Given the description of an element on the screen output the (x, y) to click on. 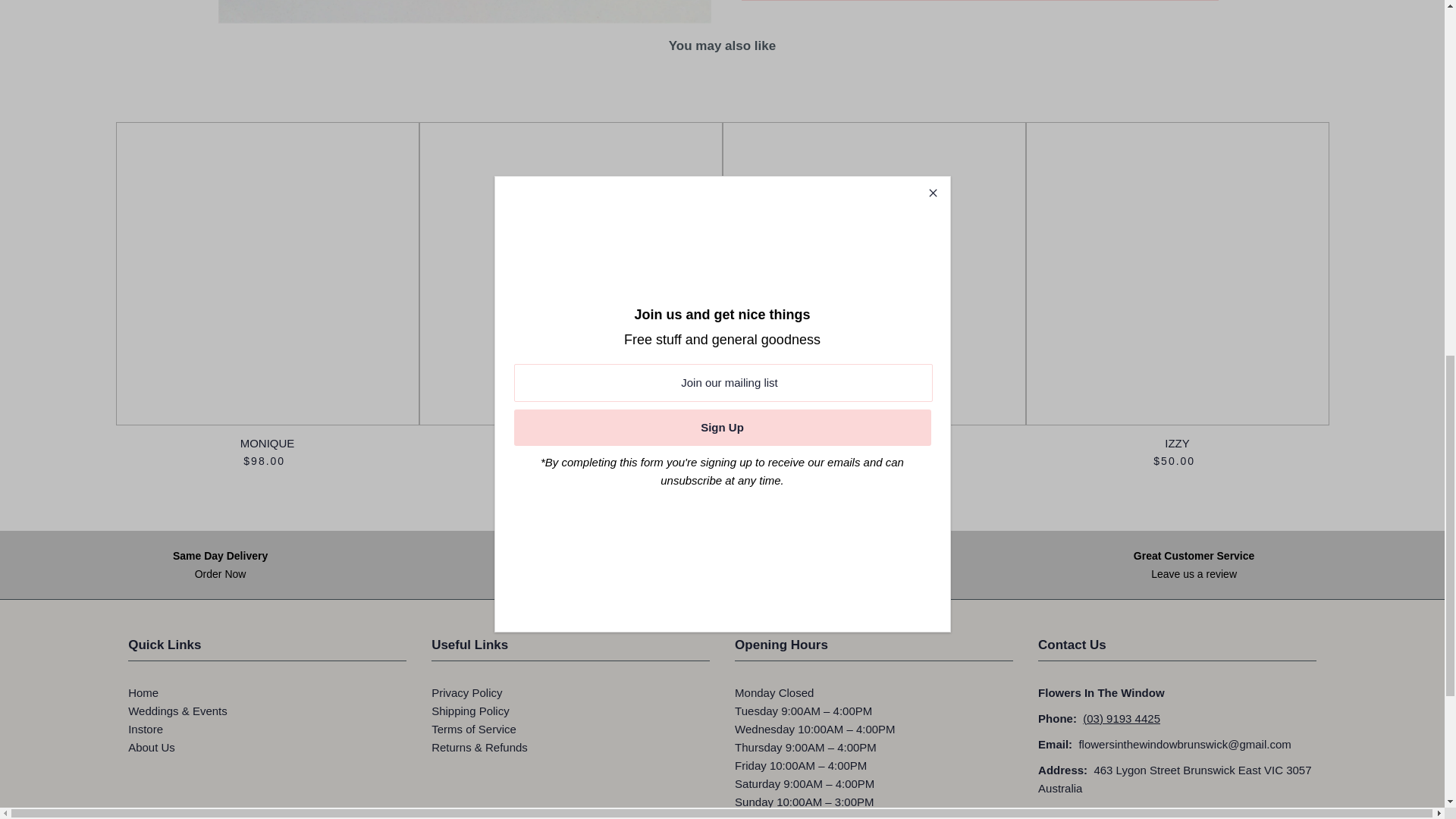
tel:0391934425 (706, 564)
MONIQUE (1121, 717)
IZZY (267, 273)
SHEILA (1176, 273)
BELLA (570, 273)
